Given the description of an element on the screen output the (x, y) to click on. 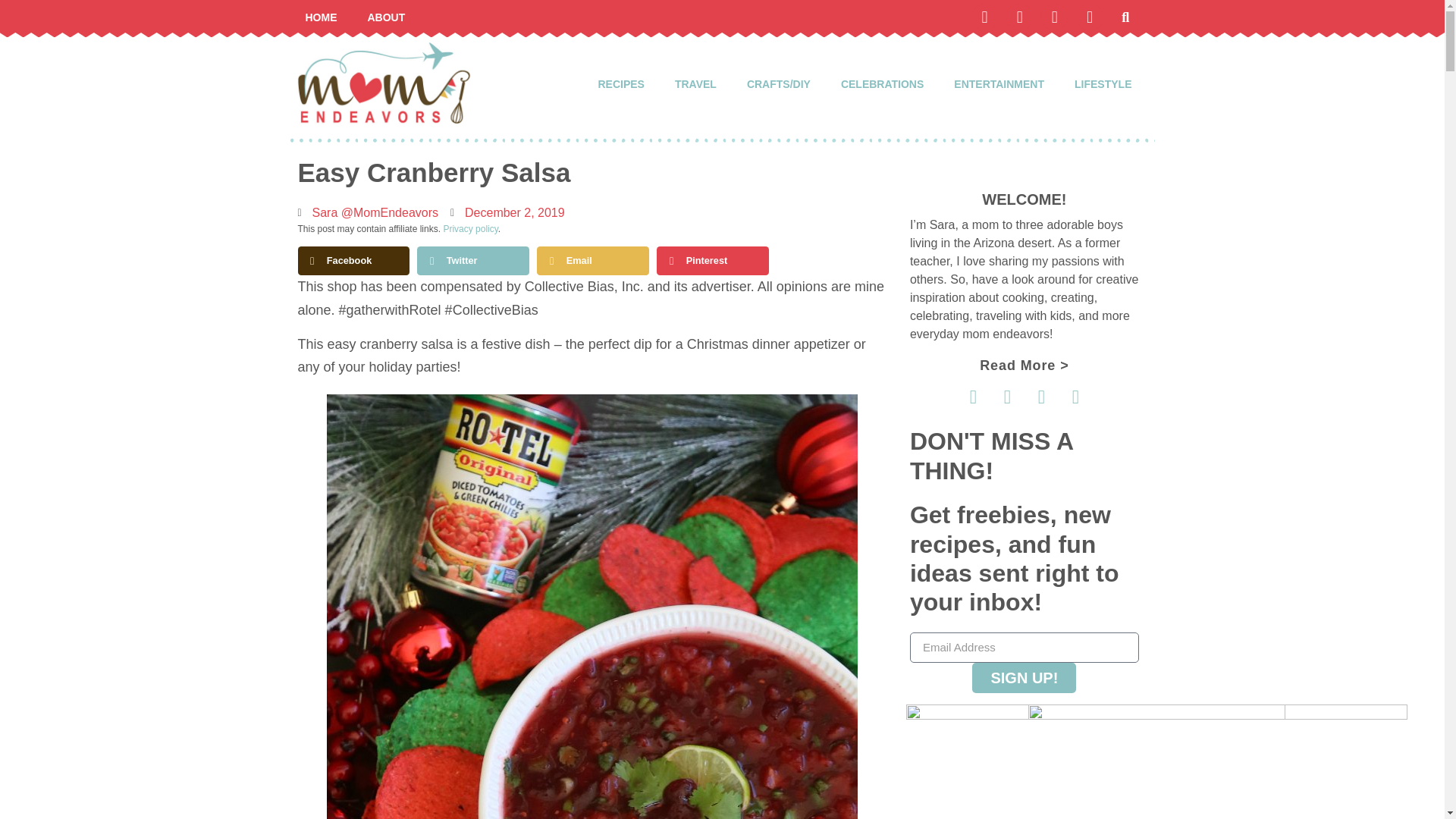
HOME (320, 17)
RECIPES (620, 83)
ABOUT (386, 17)
